Given the description of an element on the screen output the (x, y) to click on. 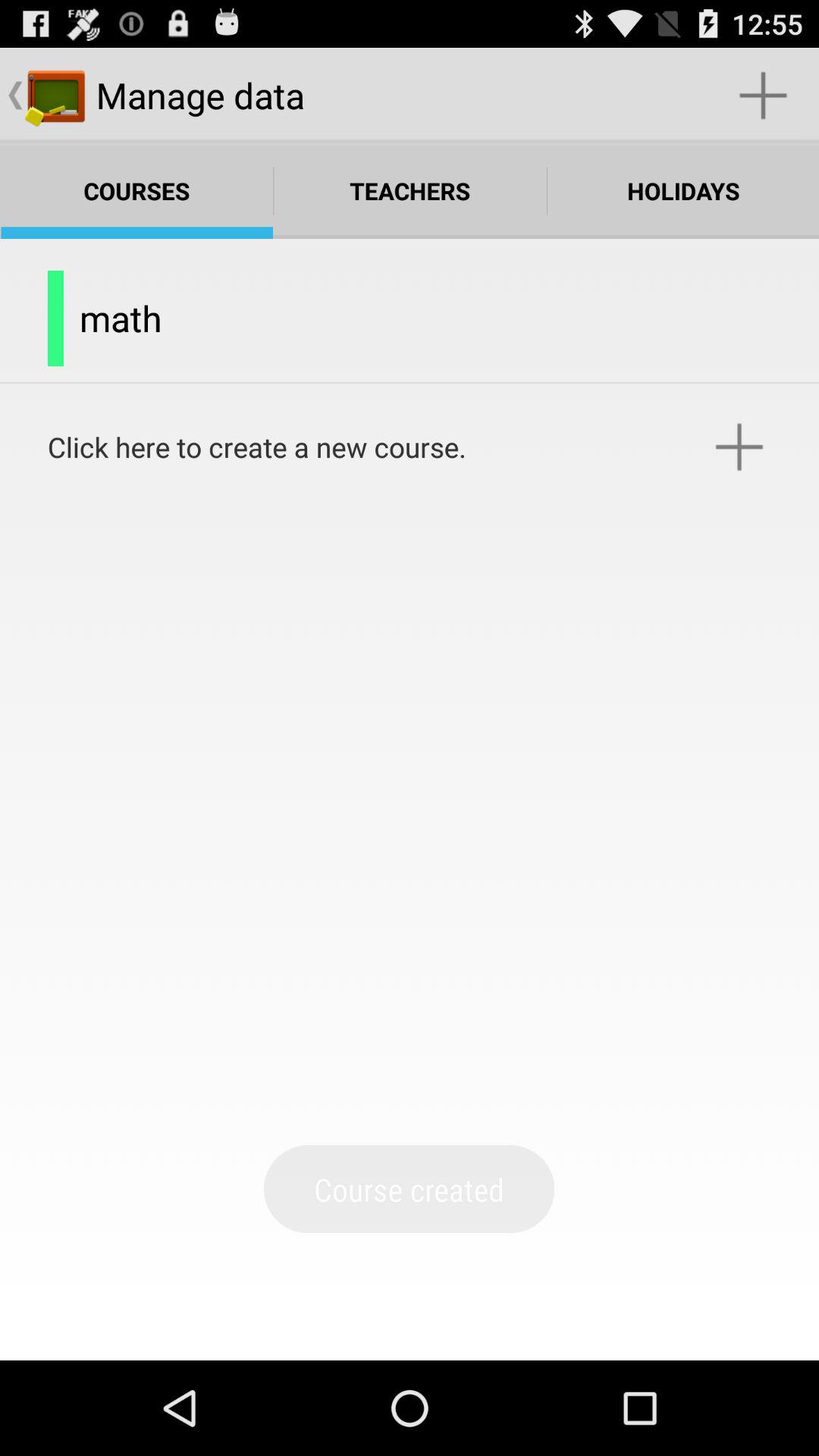
click item above the holidays app (763, 95)
